Given the description of an element on the screen output the (x, y) to click on. 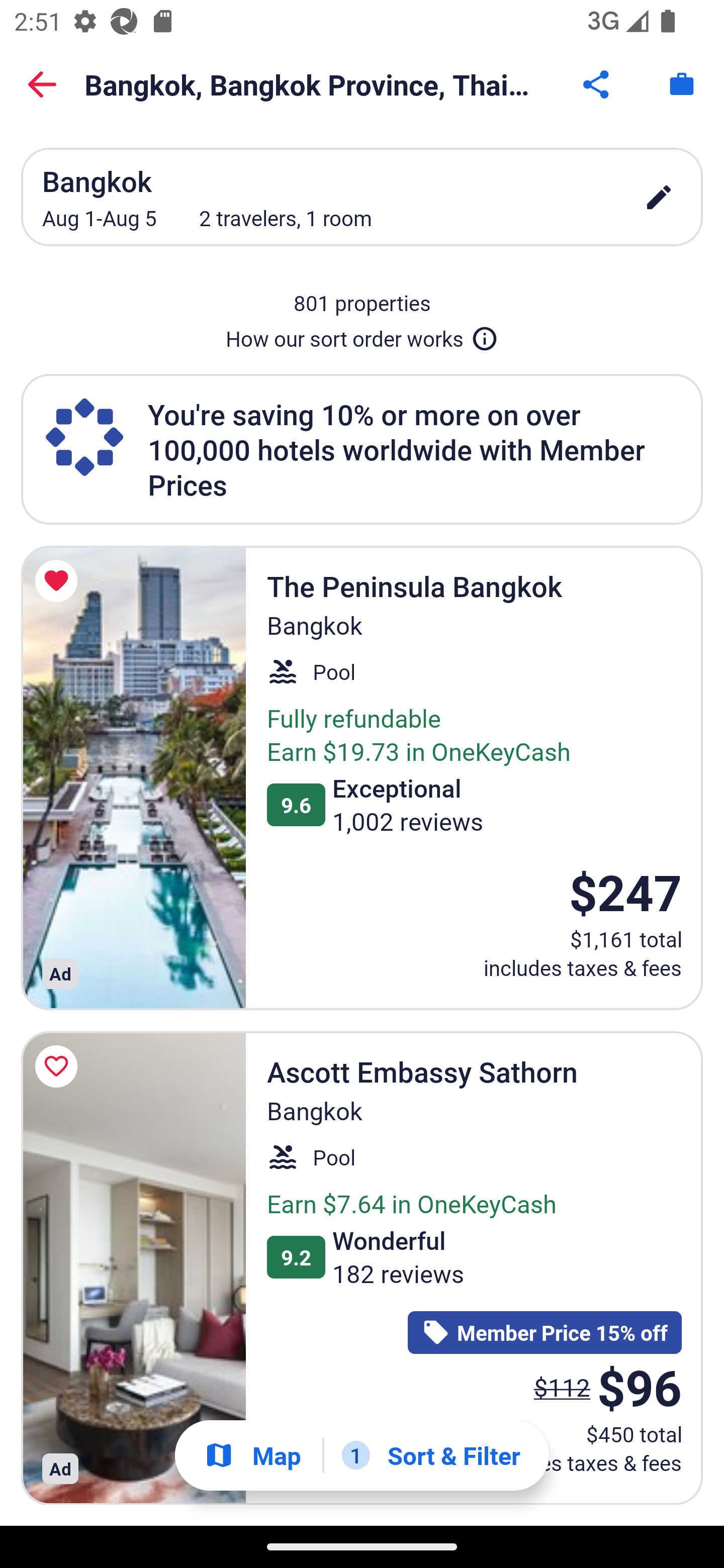
Back (42, 84)
Share Button (597, 84)
Trips. Button (681, 84)
Bangkok Aug 1-Aug 5 2 travelers, 1 room edit (361, 196)
How our sort order works (361, 334)
Remove The Peninsula Bangkok from a trip (59, 580)
The Peninsula Bangkok (133, 777)
Save Ascott Embassy Sathorn to a trip (59, 1065)
Ascott Embassy Sathorn (133, 1268)
$112 The price was $112 (561, 1387)
1 Sort & Filter 1 Filter applied. Filters Button (430, 1455)
Show map Map Show map Button (252, 1455)
